Given the description of an element on the screen output the (x, y) to click on. 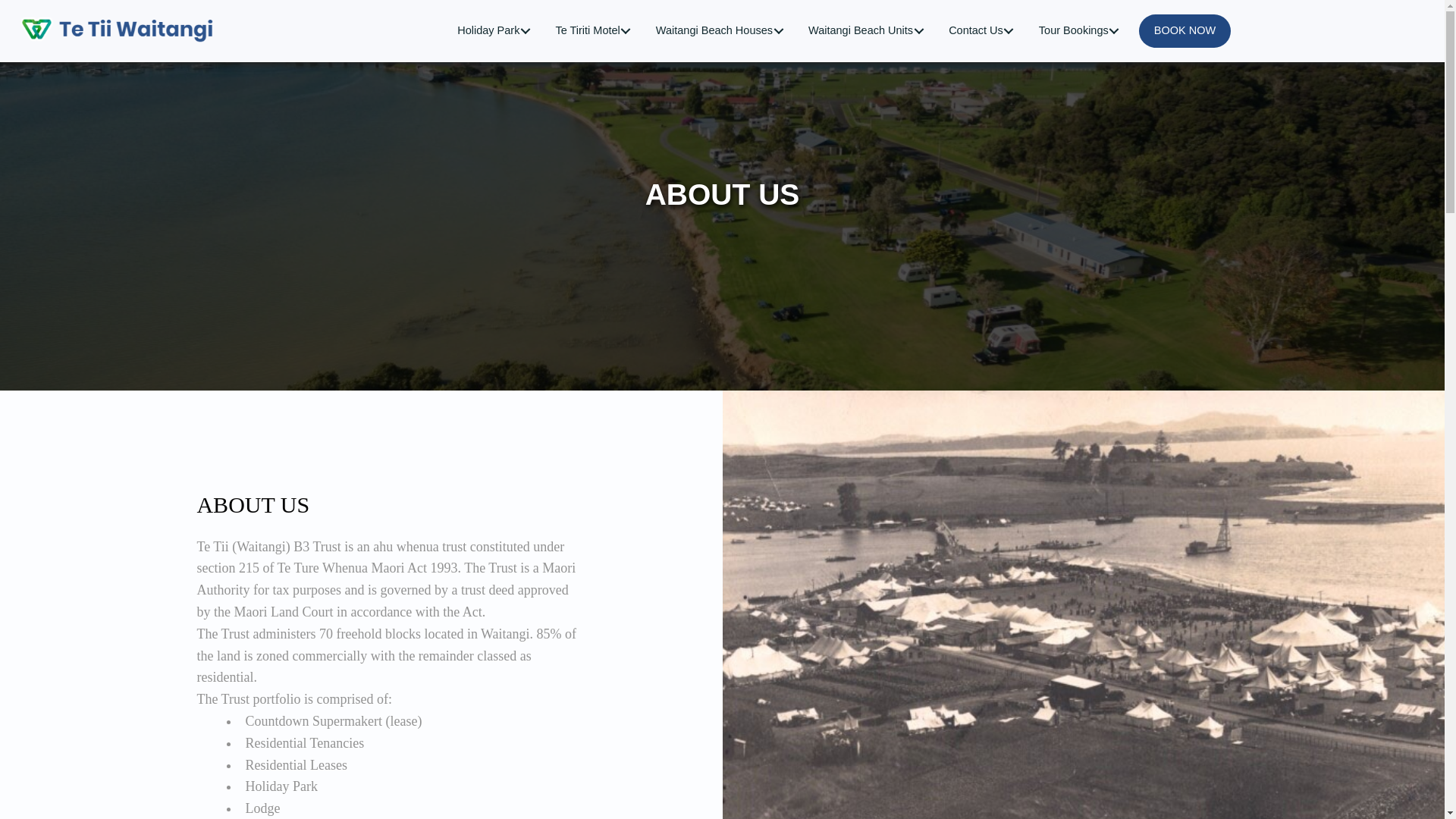
Holiday Park (495, 30)
Waitangi Beach Units (868, 30)
Te Tiriti Motel (595, 30)
Contact Us (984, 30)
Waitangi Beach Houses (721, 30)
